Given the description of an element on the screen output the (x, y) to click on. 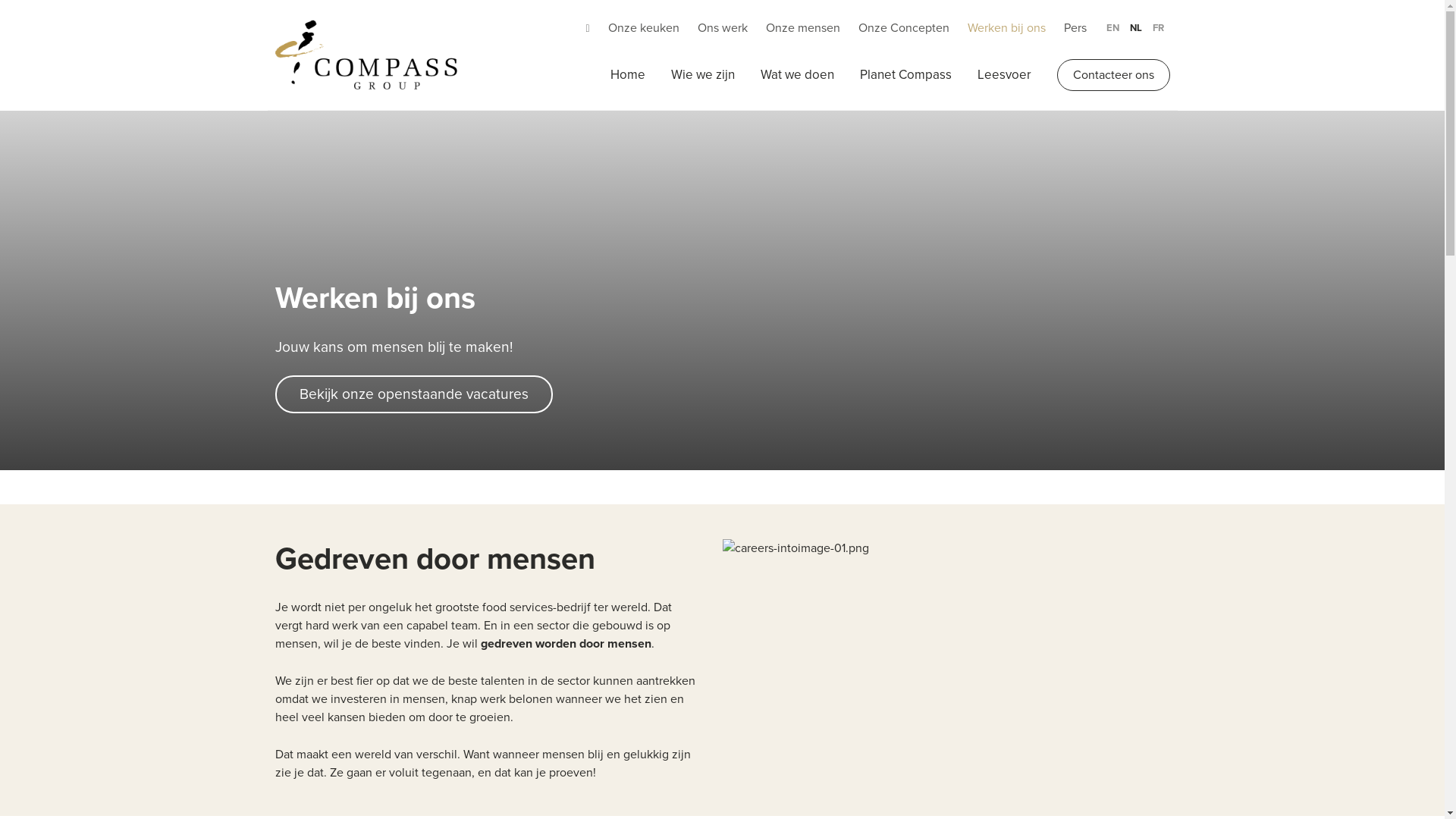
Home Element type: text (626, 74)
Onze mensen Element type: text (802, 27)
NL Element type: text (1134, 27)
Wie we zijn Element type: text (702, 74)
Onze Concepten Element type: text (903, 27)
Onze keuken Element type: text (643, 27)
Leesvoer Element type: text (1003, 74)
Contacteer ons Element type: text (1113, 75)
Pers Element type: text (1074, 27)
Wat we doen Element type: text (796, 74)
Planet Compass Element type: text (905, 74)
Home Element type: hover (365, 54)
Bekijk onze openstaande vacatures Element type: text (413, 394)
Ons werk Element type: text (722, 27)
EN Element type: text (1112, 27)
HOME Element type: text (296, 27)
careers-intoimage-01.png Element type: hover (794, 548)
Werken bij ons Element type: text (1006, 27)
FR Element type: text (1157, 27)
